Given the description of an element on the screen output the (x, y) to click on. 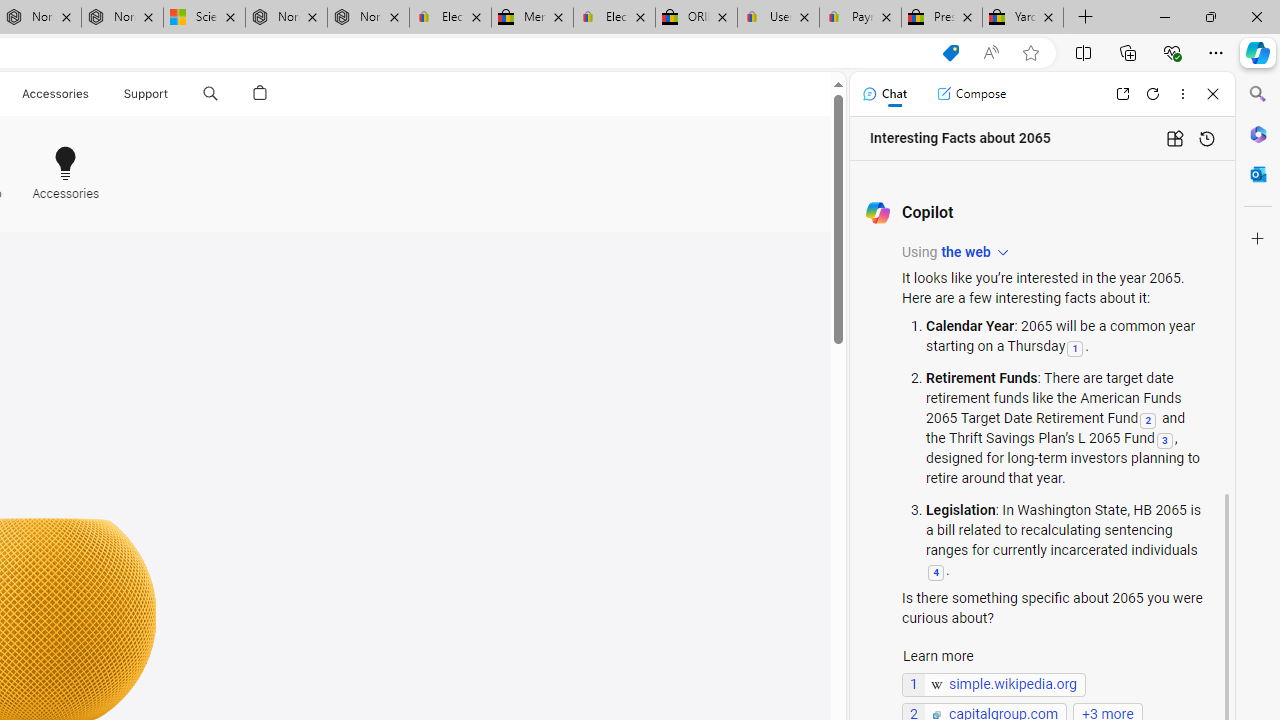
Class: globalnav-submenu-trigger-item (172, 93)
Compose (971, 93)
Shopping in Microsoft Edge (950, 53)
Support (146, 93)
Support menu (172, 93)
